Given the description of an element on the screen output the (x, y) to click on. 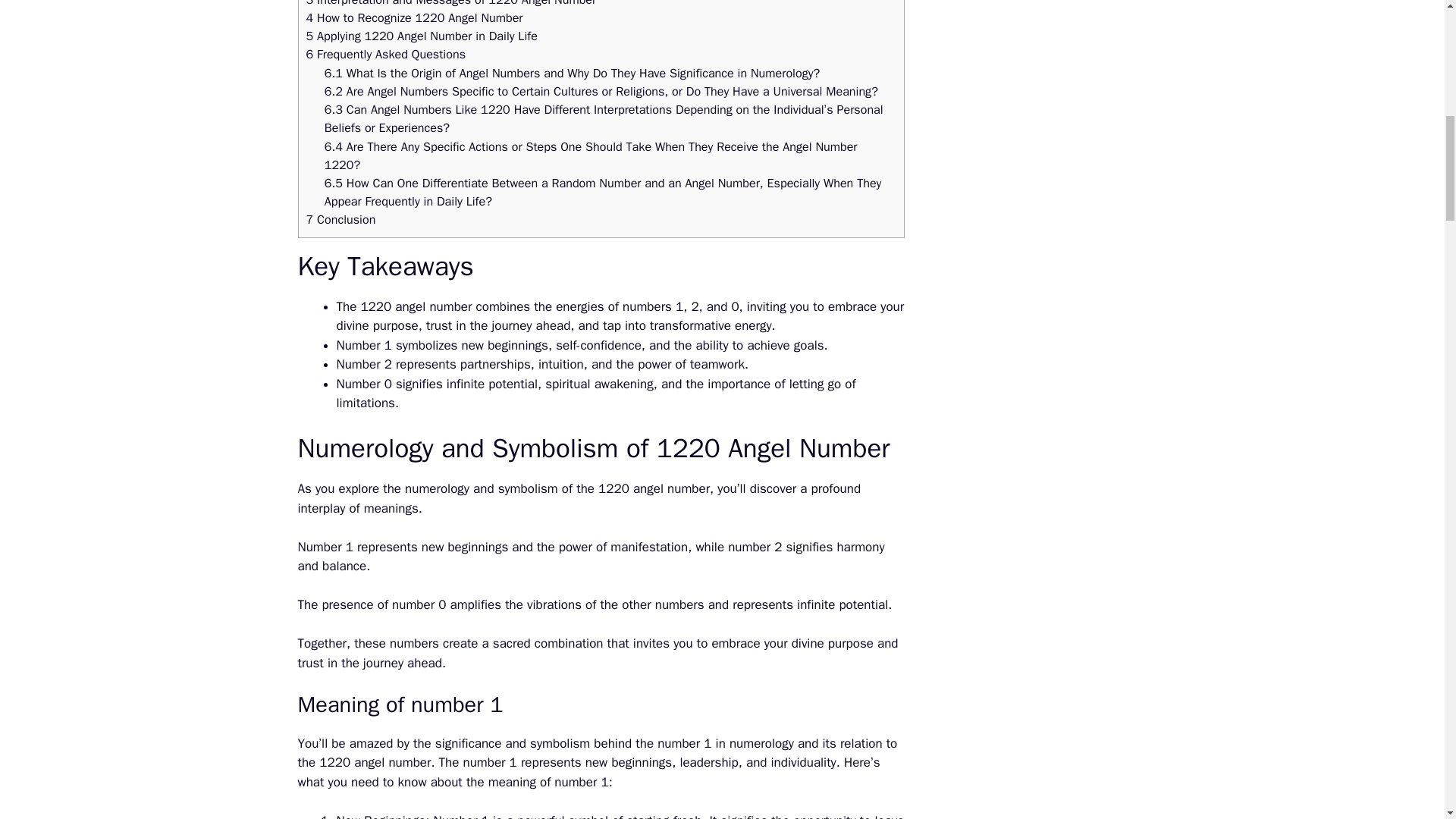
5 Applying 1220 Angel Number in Daily Life (421, 35)
7 Conclusion (340, 219)
3 Interpretation and Messages of 1220 Angel Number (450, 3)
4 How to Recognize 1220 Angel Number (413, 17)
6 Frequently Asked Questions (385, 53)
Scroll back to top (1406, 720)
